Given the description of an element on the screen output the (x, y) to click on. 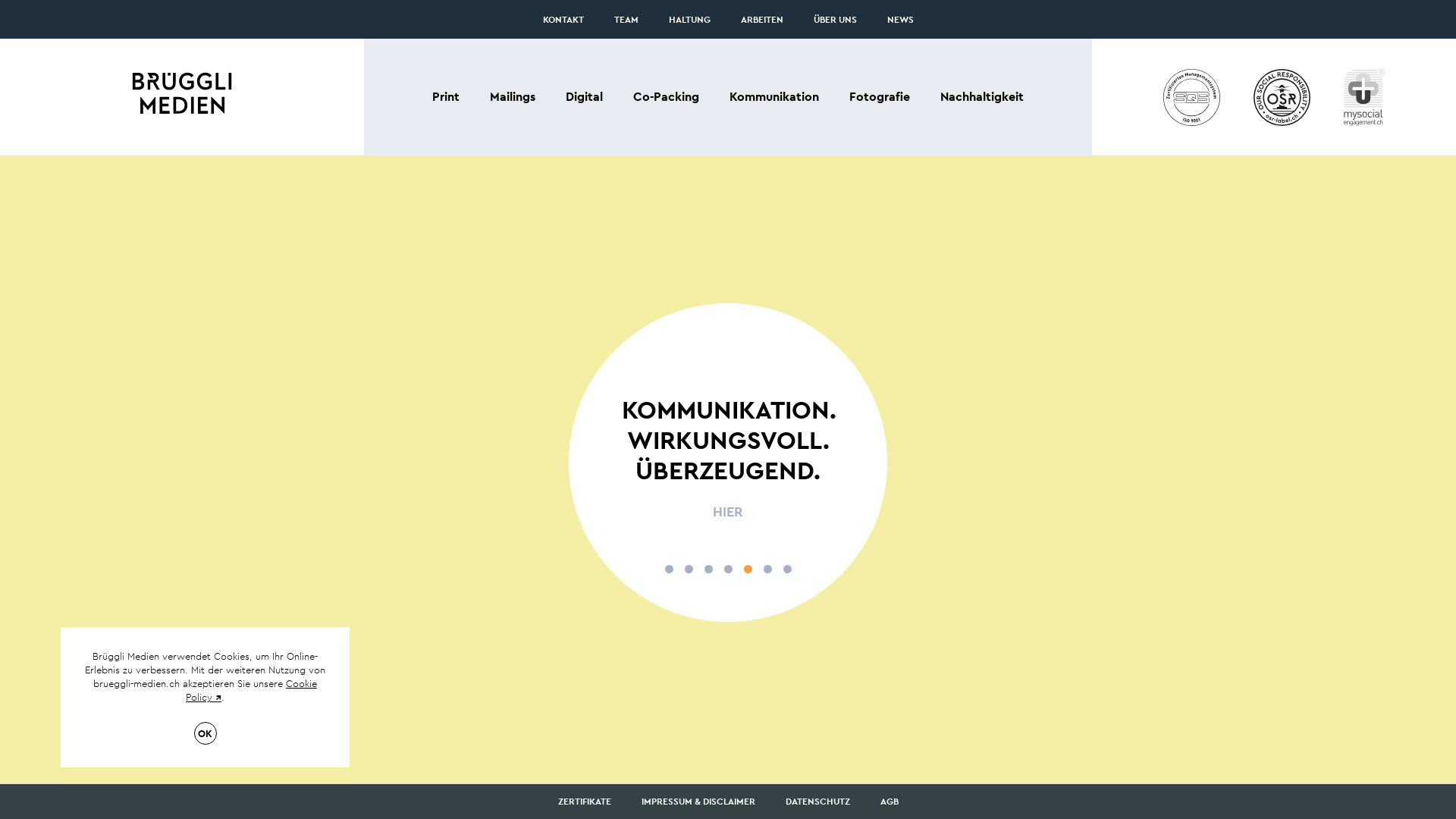
4 Element type: text (727, 568)
1 Element type: text (668, 568)
Kommunikation Element type: text (774, 96)
2 Element type: text (688, 568)
Digital Element type: text (583, 96)
6 Element type: text (766, 568)
DATENSCHUTZ Element type: text (817, 801)
Mailings Element type: text (512, 96)
IMPRESSUM & DISCLAIMER Element type: text (698, 801)
ARBEITEN Element type: text (761, 19)
HIER Element type: text (727, 511)
ZERTIFIKATE Element type: text (584, 801)
Print Element type: text (445, 96)
KONTAKT Element type: text (562, 19)
TEAM Element type: text (626, 19)
Co-Packing Element type: text (666, 96)
NEWS Element type: text (900, 19)
Nachhaltigkeit Element type: text (981, 96)
AGB Element type: text (888, 801)
3 Element type: text (707, 568)
Cookie Policy Element type: text (250, 690)
Fotografie Element type: text (879, 96)
5 Element type: text (747, 568)
HALTUNG Element type: text (689, 19)
7 Element type: text (786, 568)
